Given the description of an element on the screen output the (x, y) to click on. 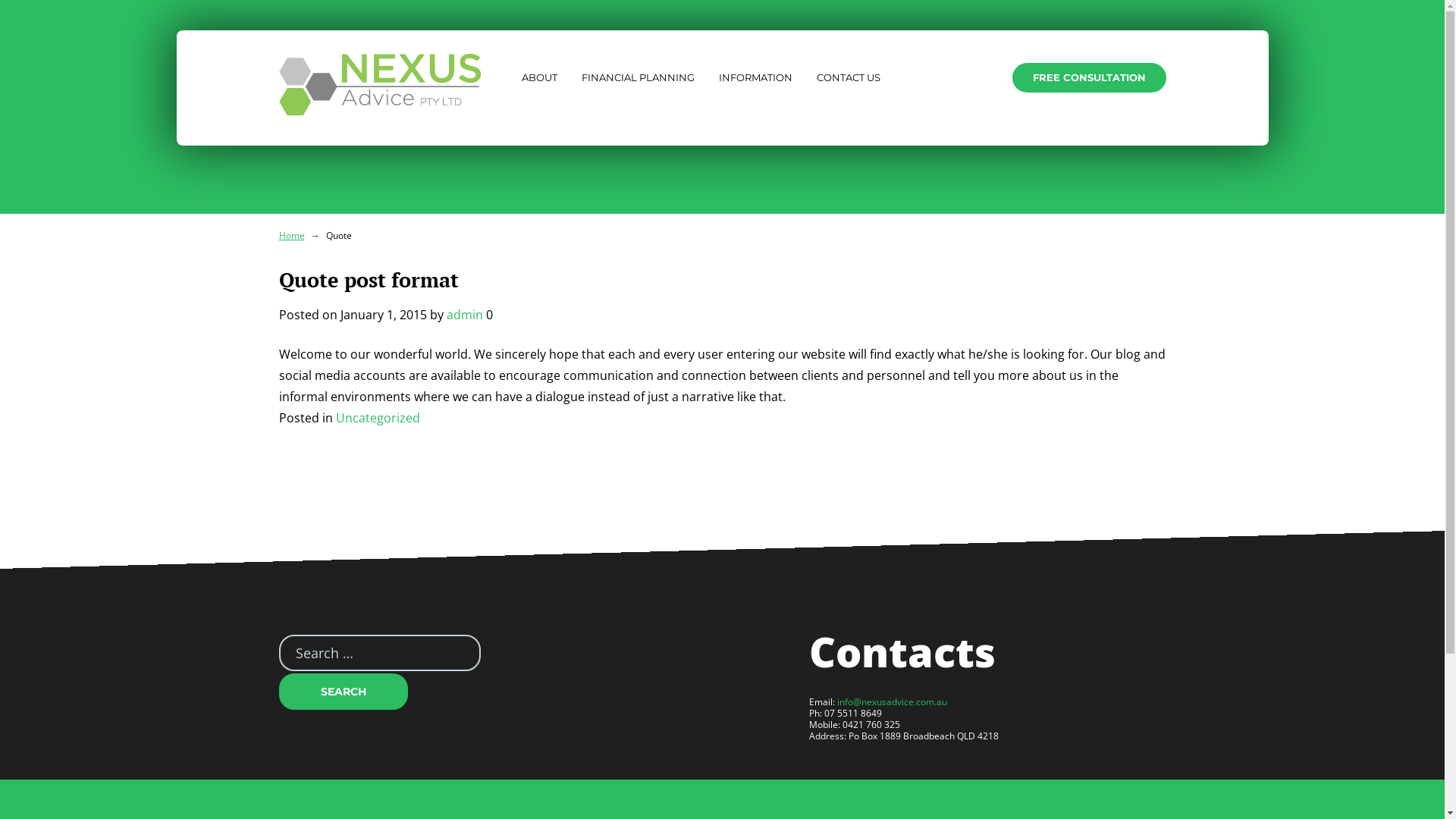
admin Element type: text (463, 314)
Uncategorized Element type: text (377, 417)
info@nexusadvice.com.au Element type: text (892, 701)
Search Element type: text (343, 691)
FINANCIAL PLANNING Element type: text (638, 77)
Quote post format Element type: text (368, 279)
CONTACT US Element type: text (848, 77)
Home Element type: text (291, 235)
ABOUT Element type: text (538, 77)
INFORMATION Element type: text (754, 77)
FREE CONSULTATION Element type: text (1088, 77)
